Given the description of an element on the screen output the (x, y) to click on. 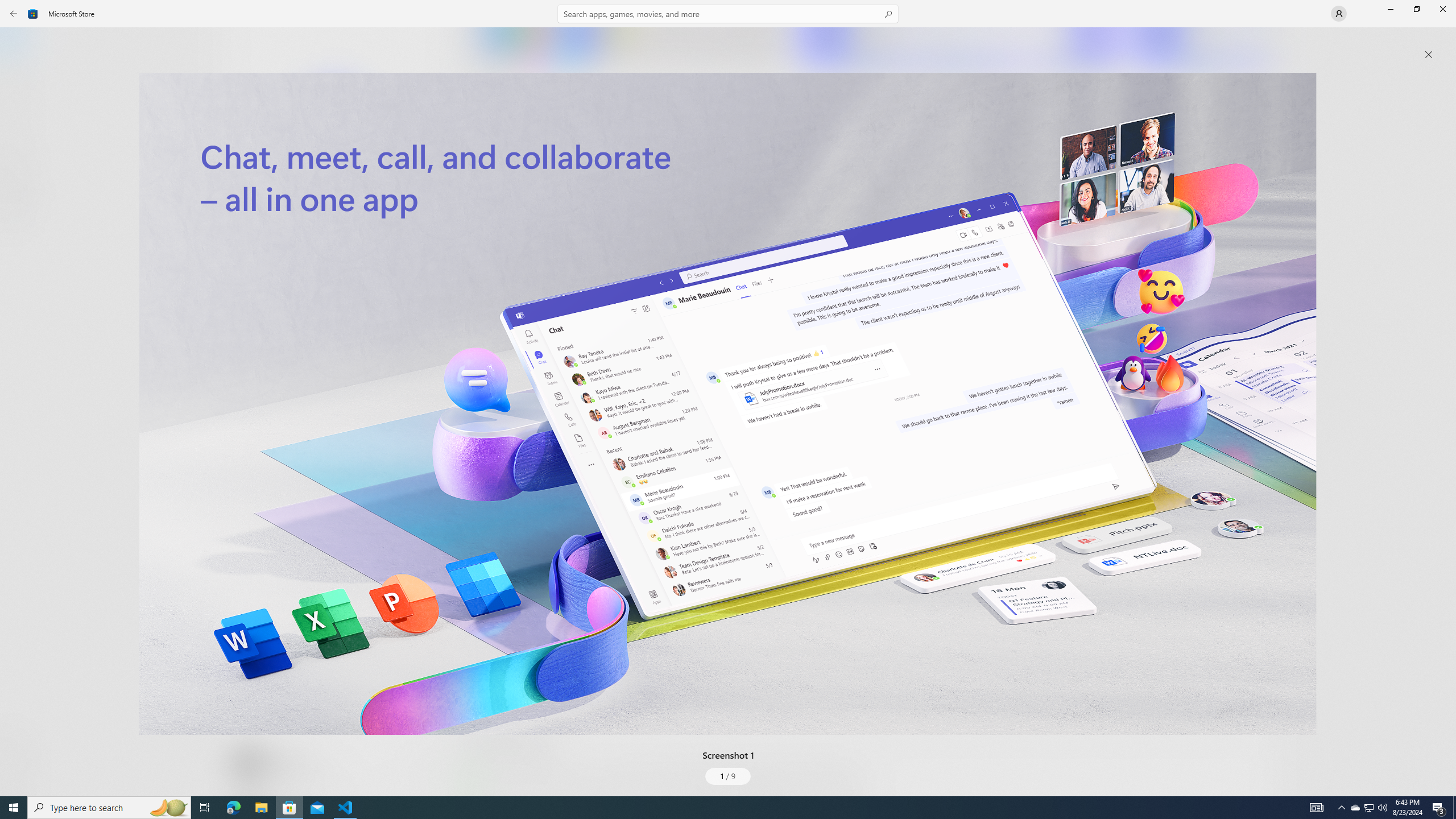
Age rating: EVERYONE. Click for more information. (287, 762)
